Given the description of an element on the screen output the (x, y) to click on. 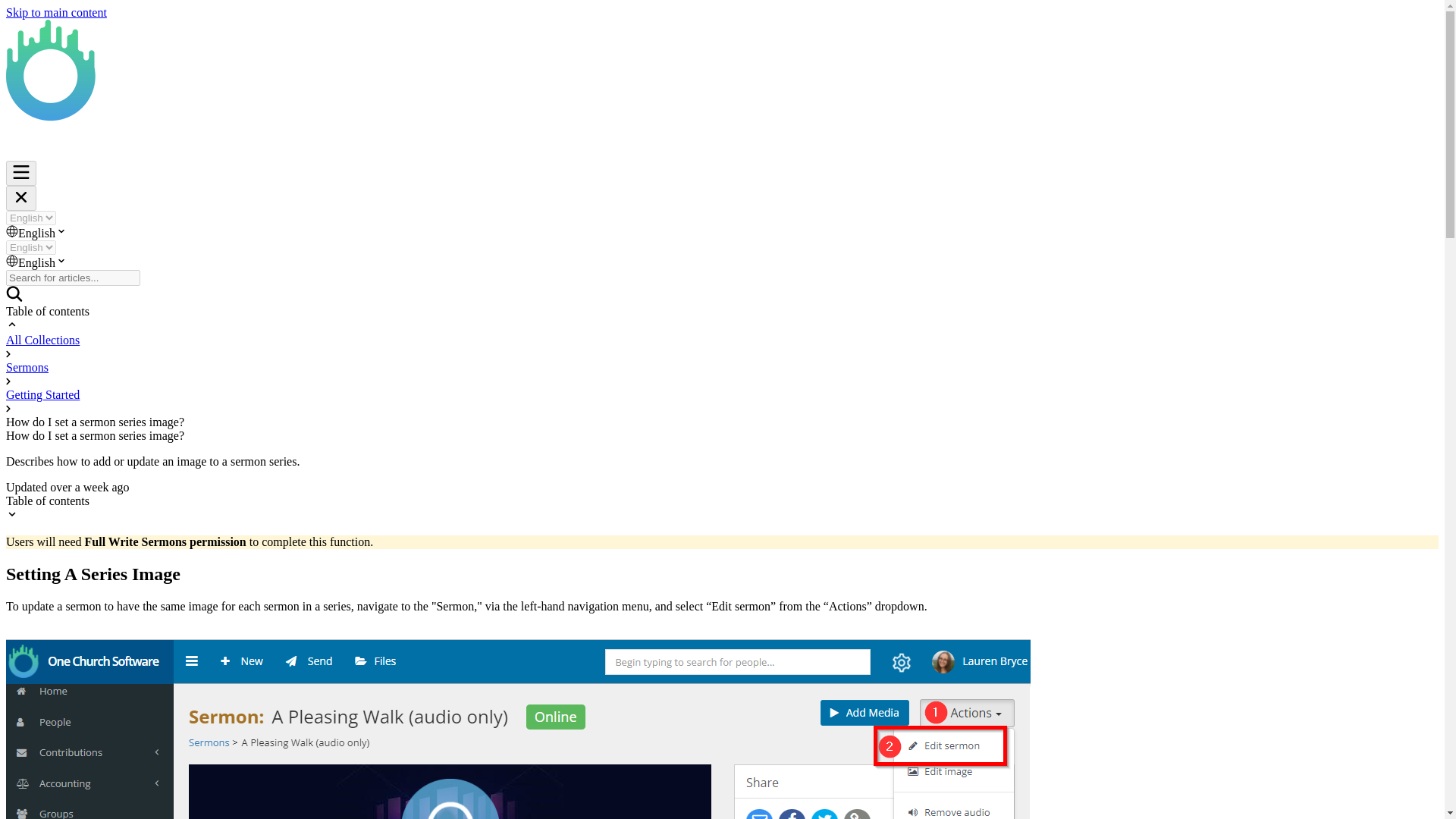
Sermons (26, 367)
Skip to main content (55, 11)
All Collections (42, 339)
Getting Started (42, 394)
